Given the description of an element on the screen output the (x, y) to click on. 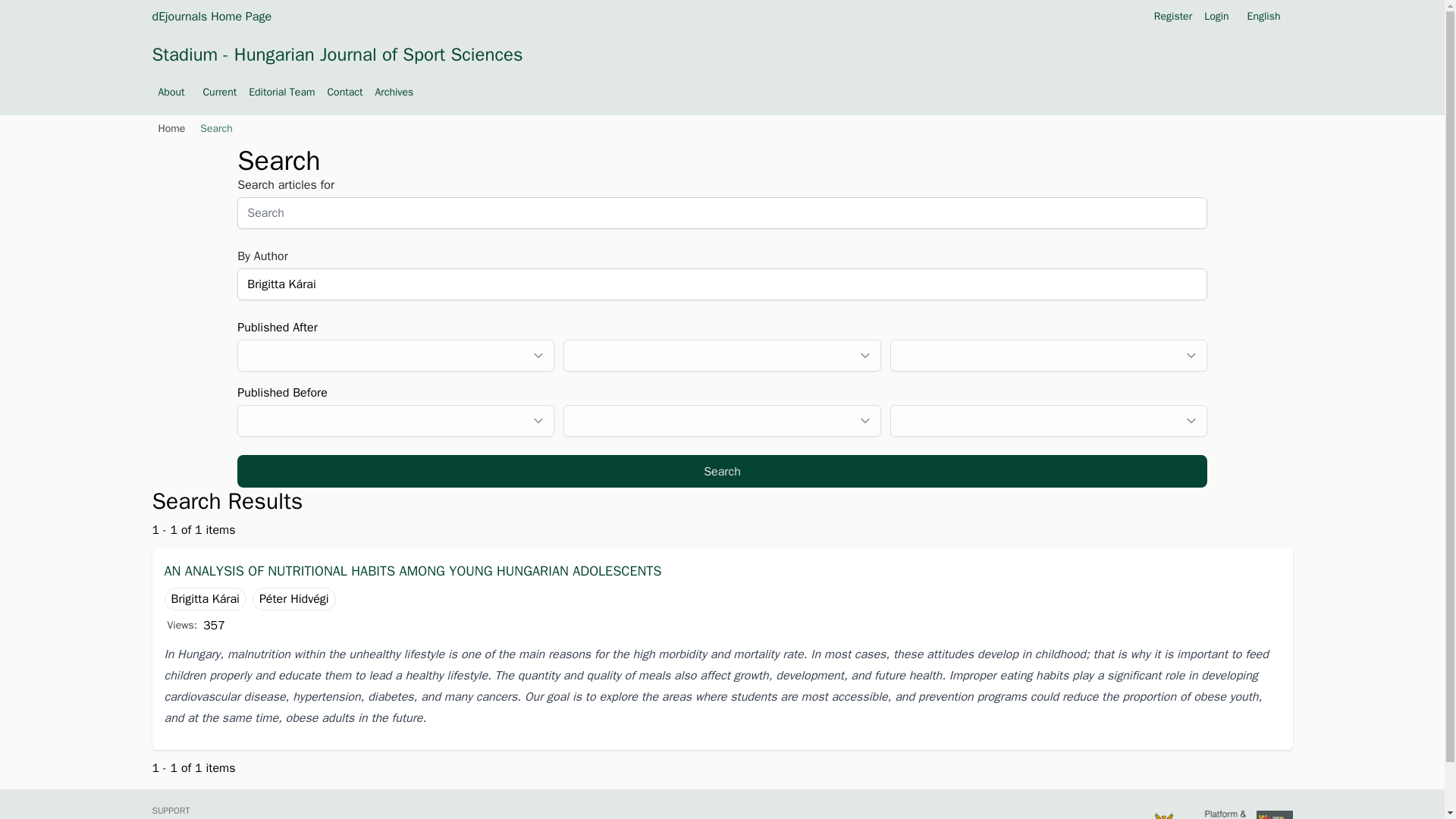
Contact (344, 92)
Register (1173, 16)
Archives (393, 92)
English (1267, 16)
Home (167, 128)
About (173, 92)
Login (1216, 16)
dEjournals Home Page (210, 16)
Editorial Team (281, 92)
Stadium - Hungarian Journal of Sport Sciences (336, 54)
